Given the description of an element on the screen output the (x, y) to click on. 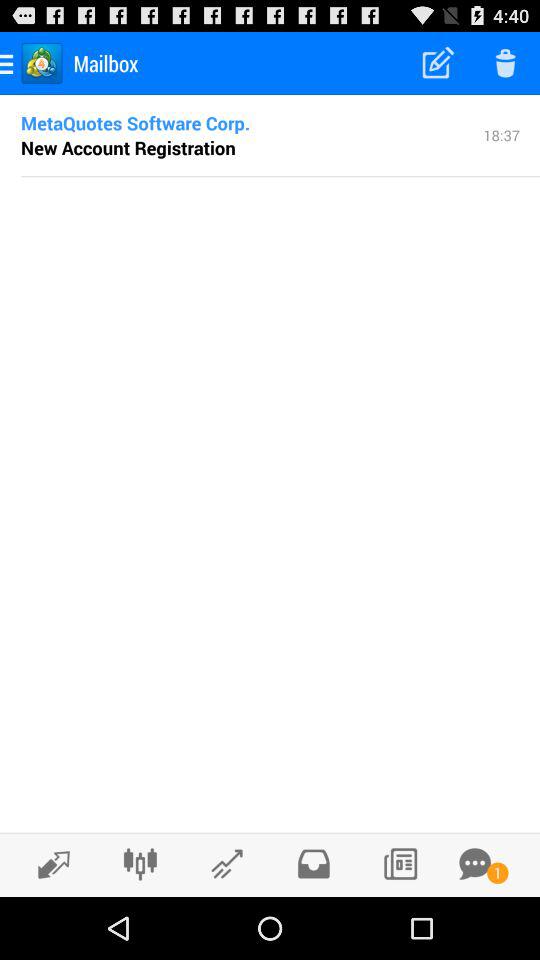
turn off the item to the left of 18:37 (128, 147)
